Given the description of an element on the screen output the (x, y) to click on. 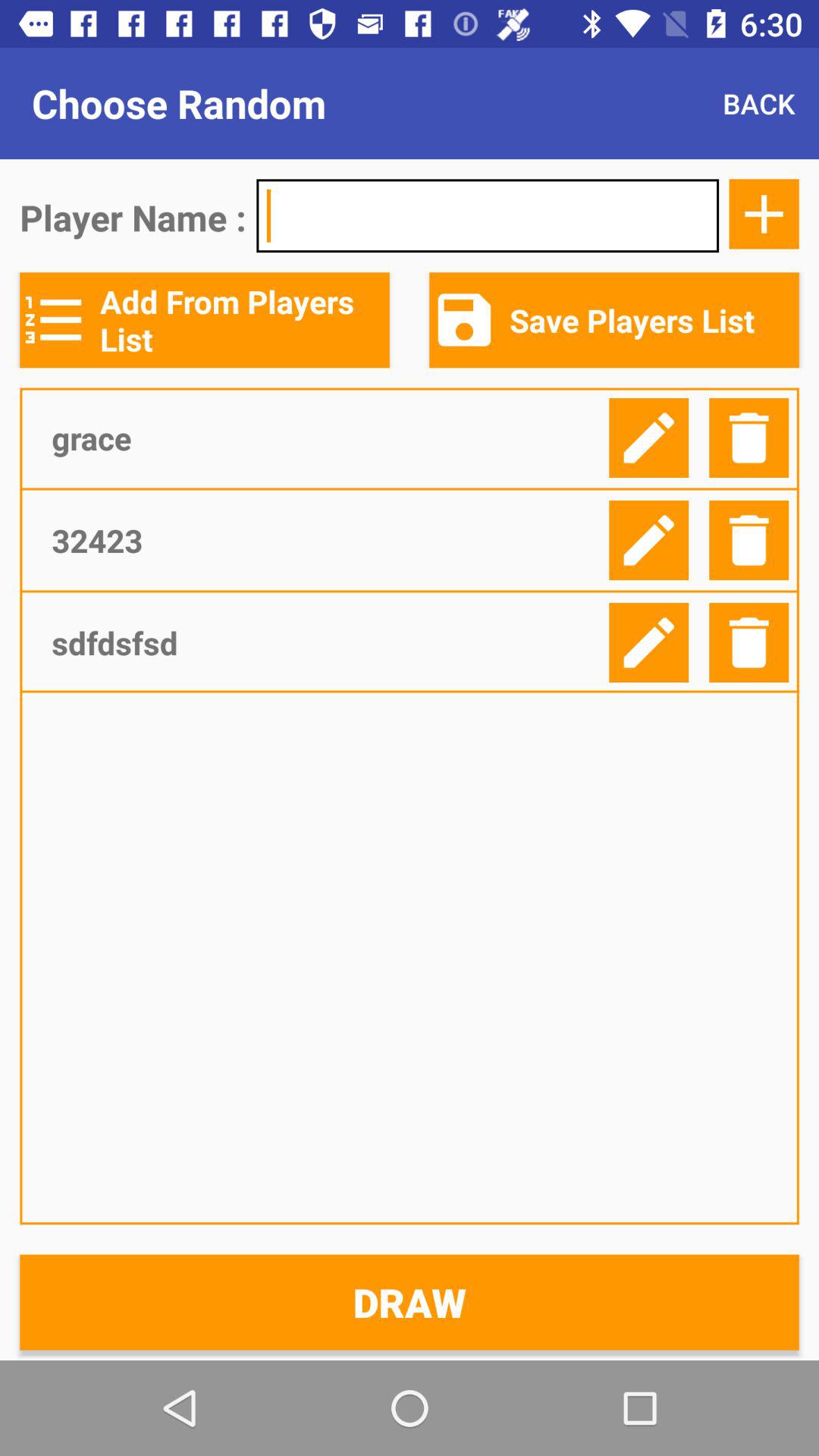
open item above the draw (324, 642)
